Given the description of an element on the screen output the (x, y) to click on. 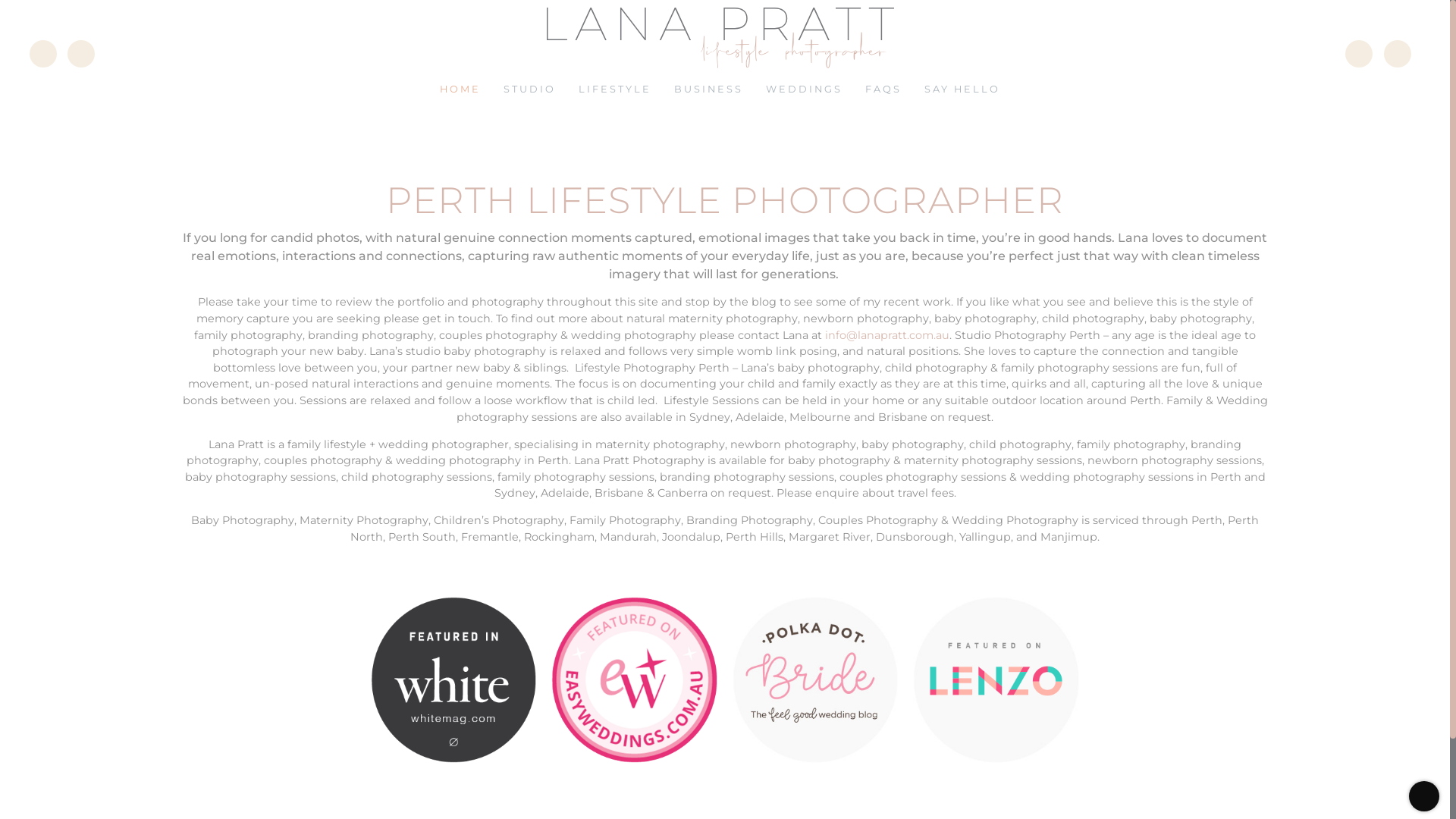
FAQS Element type: text (883, 89)
WEDDINGS Element type: text (803, 89)
SAY HELLO Element type: text (962, 89)
LIFESTYLE Element type: text (614, 89)
STUDIO Element type: text (529, 89)
BUSINESS Element type: text (708, 89)
HOME Element type: text (459, 89)
info@lanapratt.com.au Element type: text (887, 334)
